Given the description of an element on the screen output the (x, y) to click on. 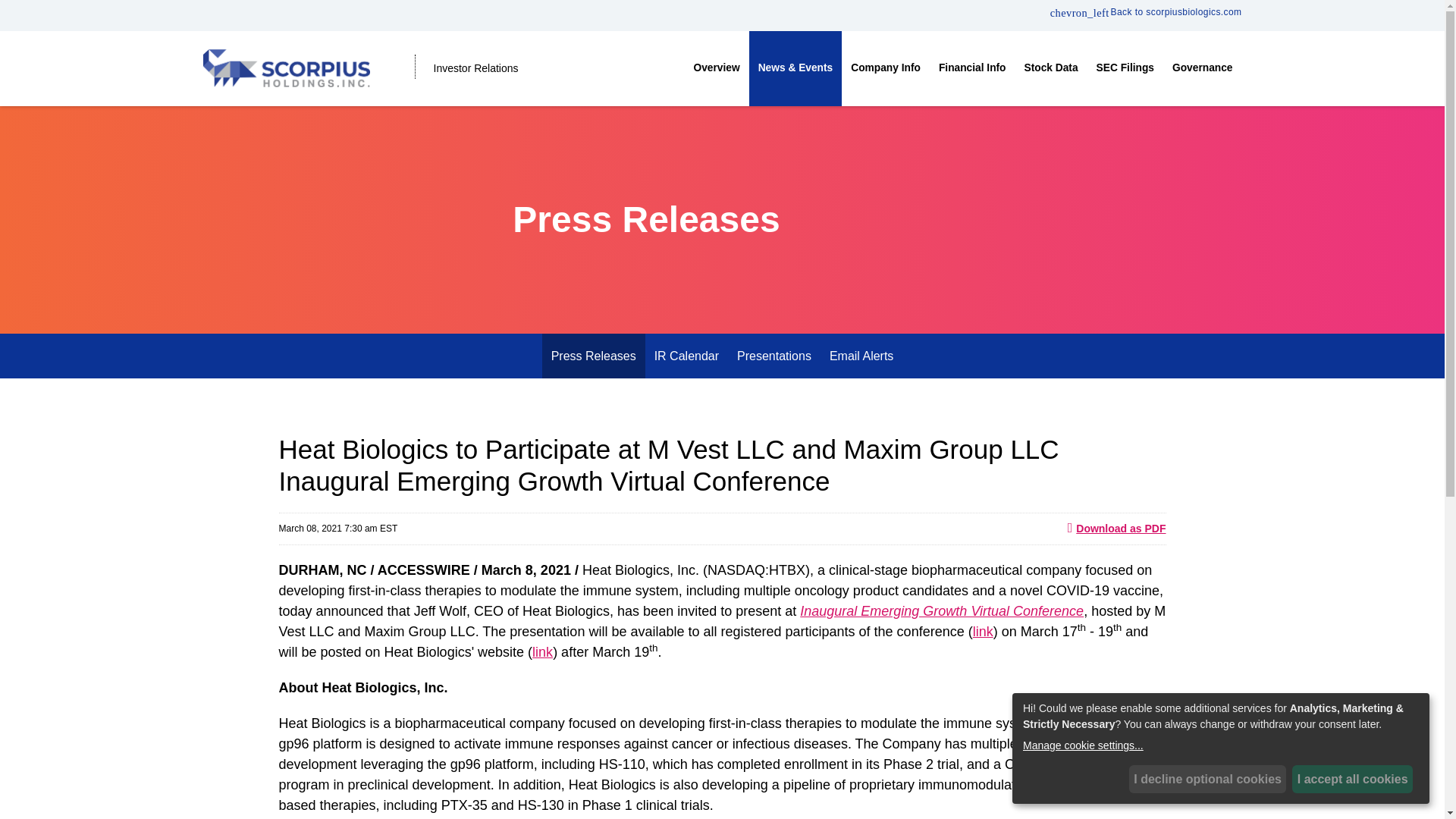
Company Info (885, 68)
I accept all cookies (1352, 778)
Governance (1202, 68)
SEC Filings (1125, 68)
Financial Info (972, 68)
Opens in a new window (1145, 10)
I decline optional cookies (1208, 778)
Manage cookie settings... (1218, 745)
Back to scorpiusbiologics.com (1145, 10)
Stock Data (1050, 68)
